Given the description of an element on the screen output the (x, y) to click on. 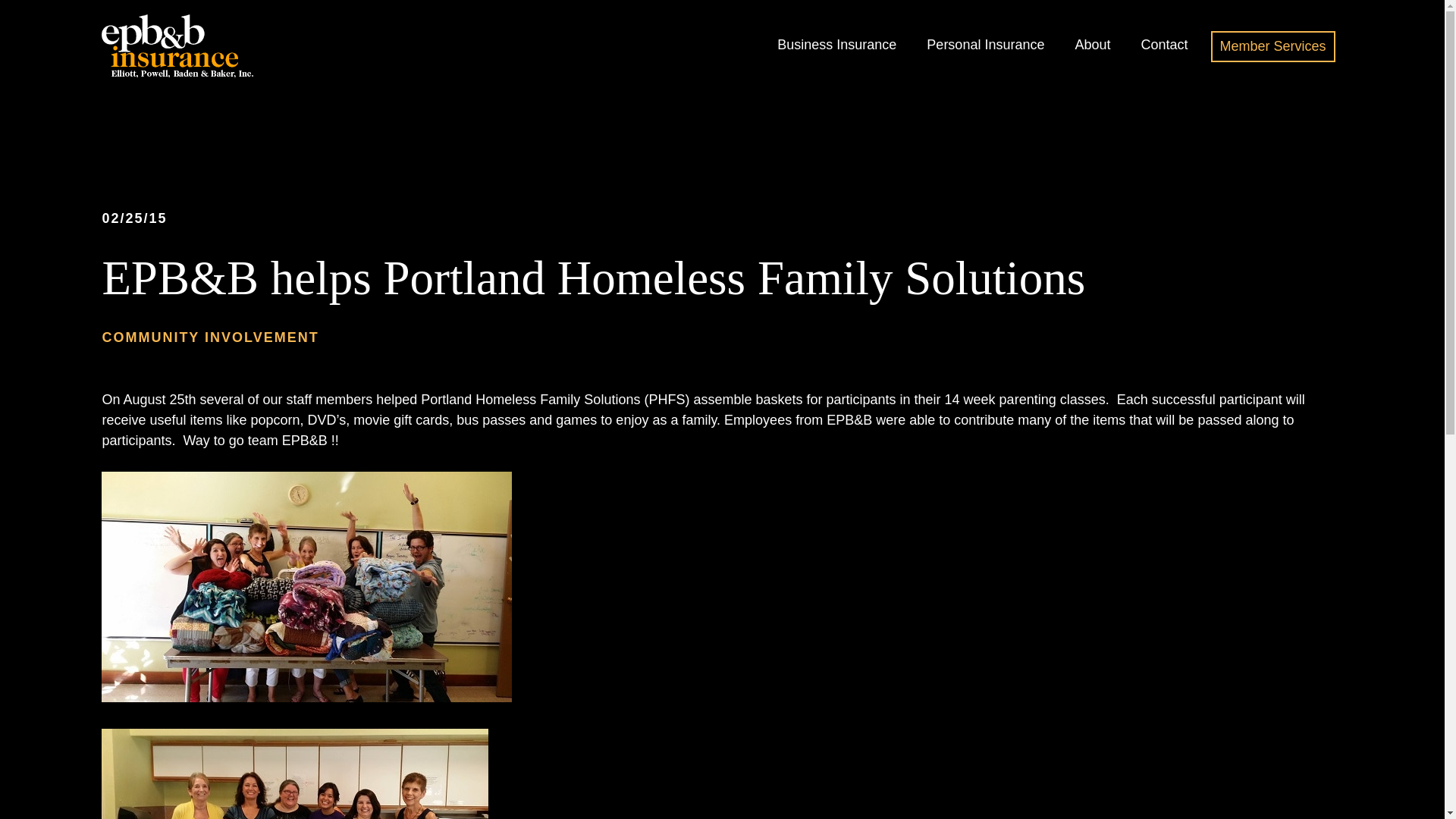
About (1092, 44)
Personal Insurance (984, 44)
Business Insurance (837, 44)
